Given the description of an element on the screen output the (x, y) to click on. 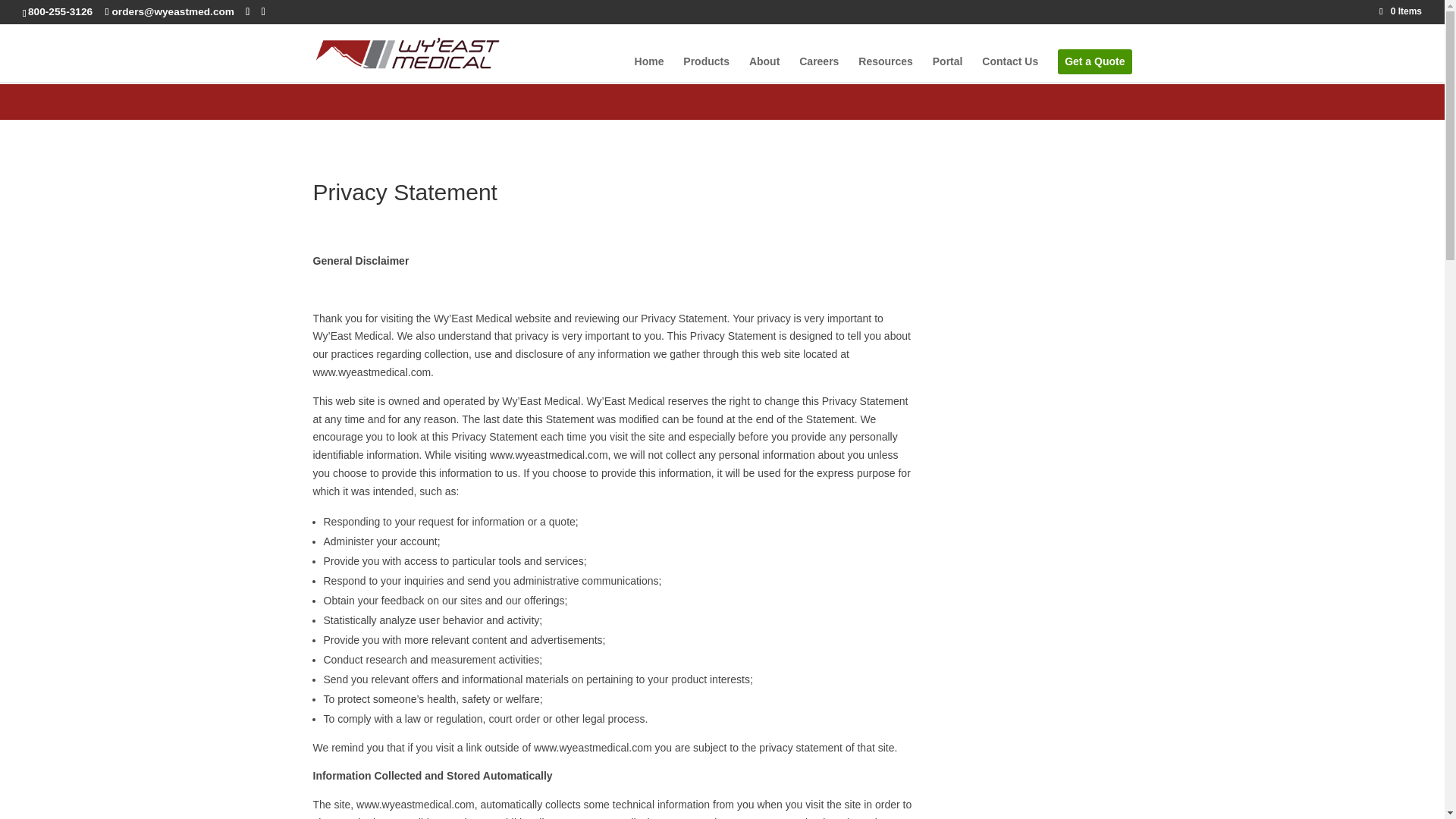
Products (705, 65)
Careers (818, 65)
About (763, 65)
Home (648, 65)
0 Items (1400, 10)
Resources (885, 65)
